Given the description of an element on the screen output the (x, y) to click on. 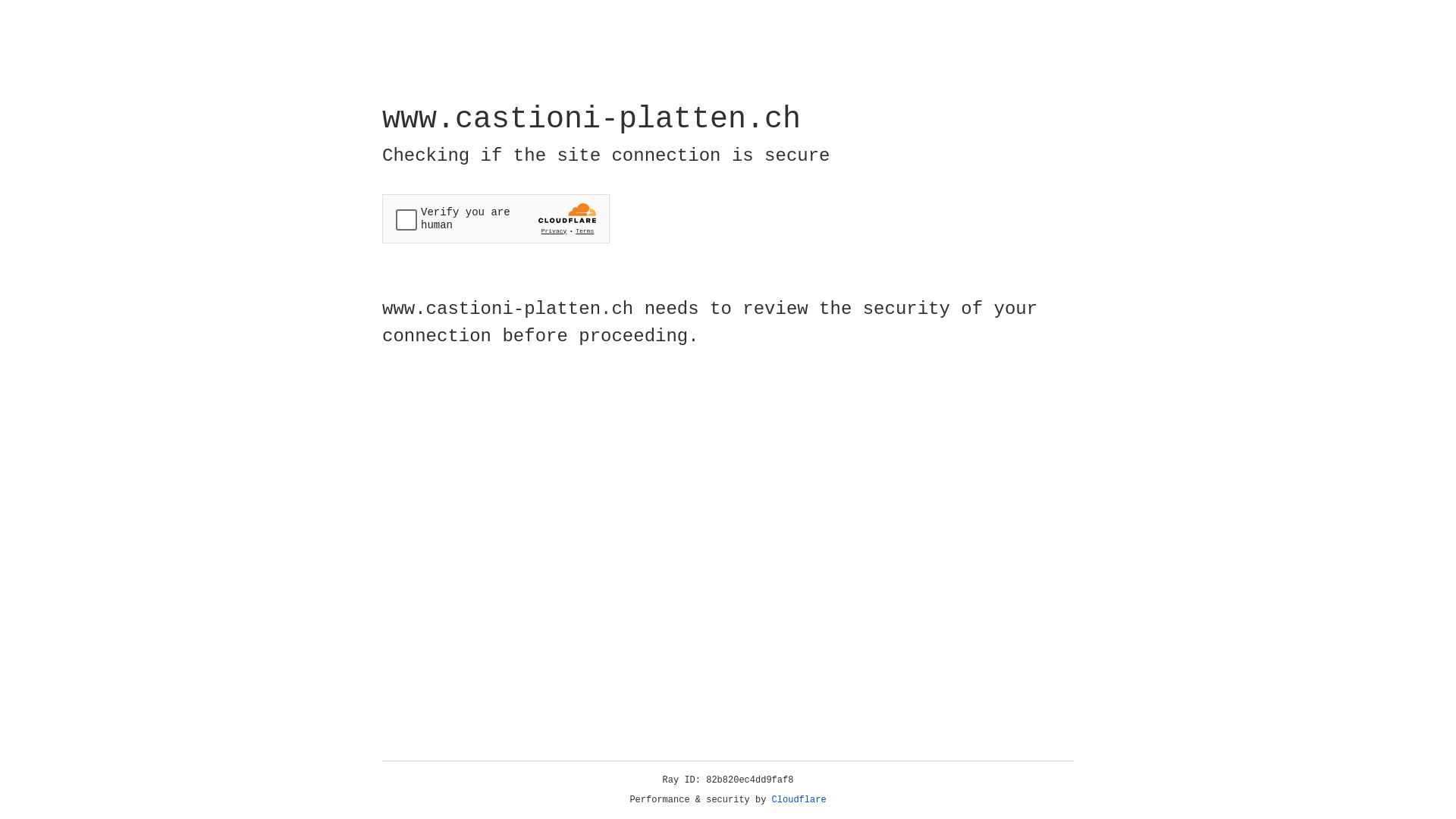
Cloudflare Element type: text (798, 799)
Widget containing a Cloudflare security challenge Element type: hover (495, 218)
